Given the description of an element on the screen output the (x, y) to click on. 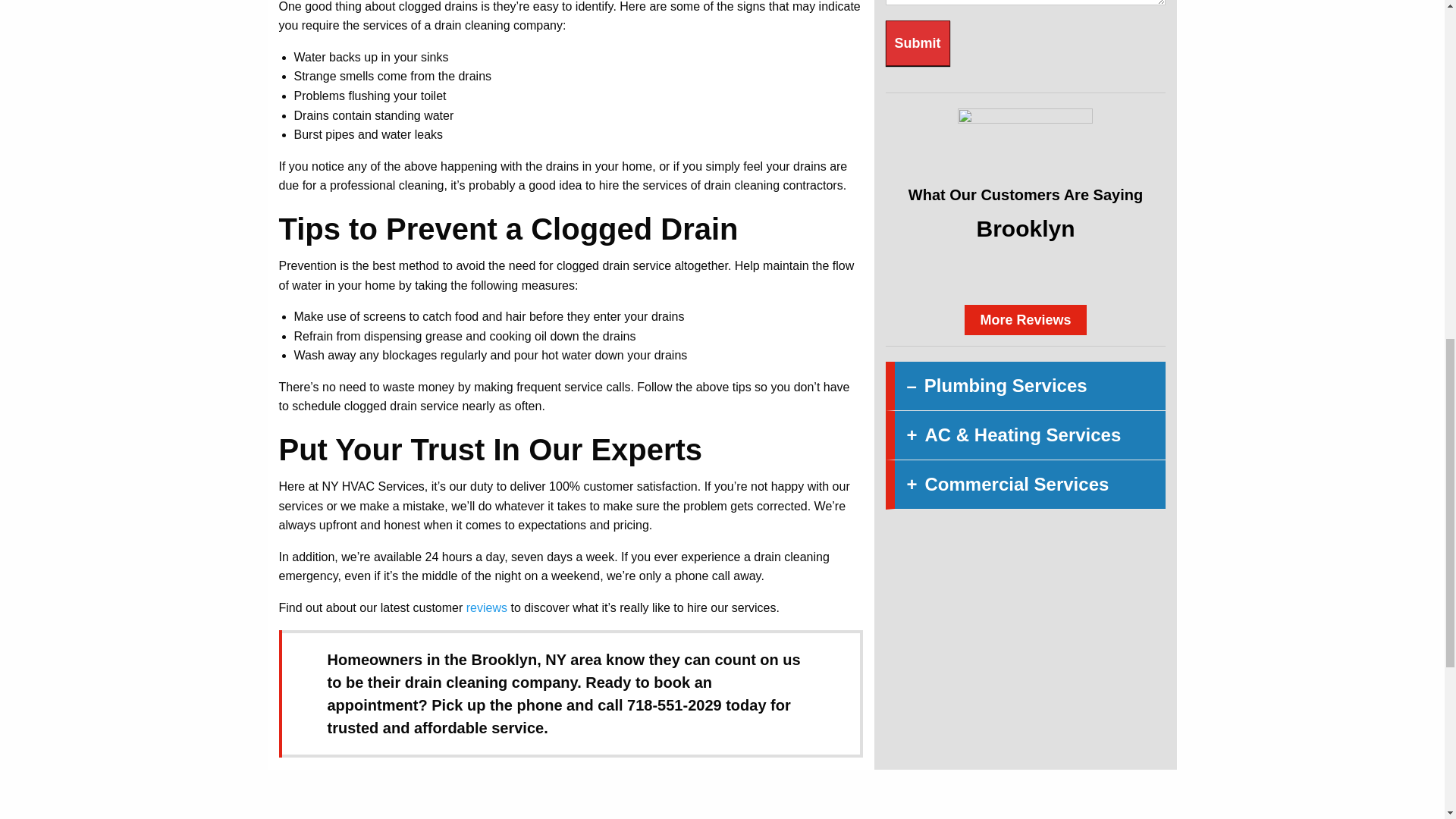
Submit (917, 43)
More Reviews (1024, 319)
Submit (917, 43)
Plumbing Services (1025, 386)
reviews (485, 607)
